Given the description of an element on the screen output the (x, y) to click on. 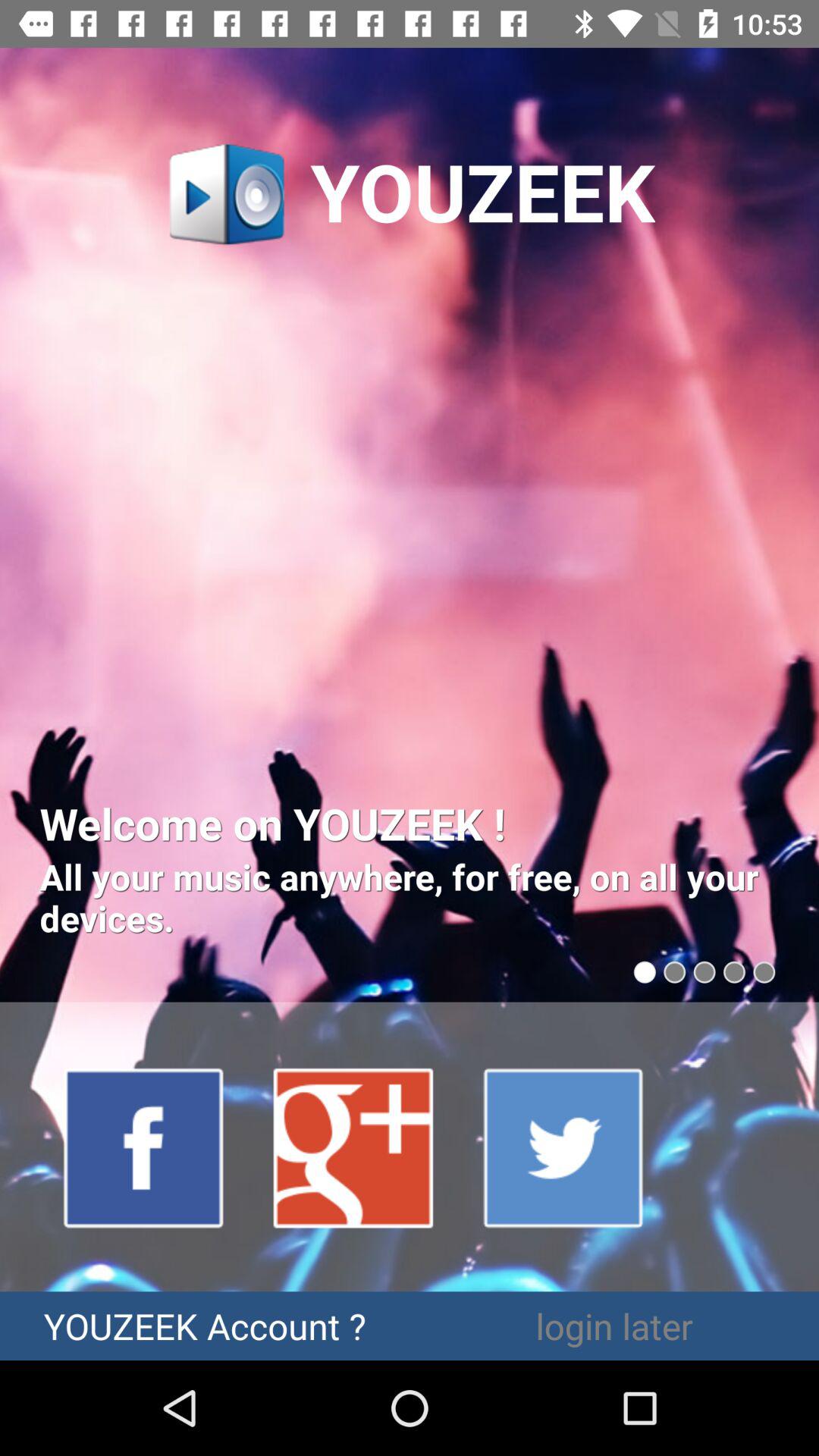
sign in with google+ (354, 1146)
